Given the description of an element on the screen output the (x, y) to click on. 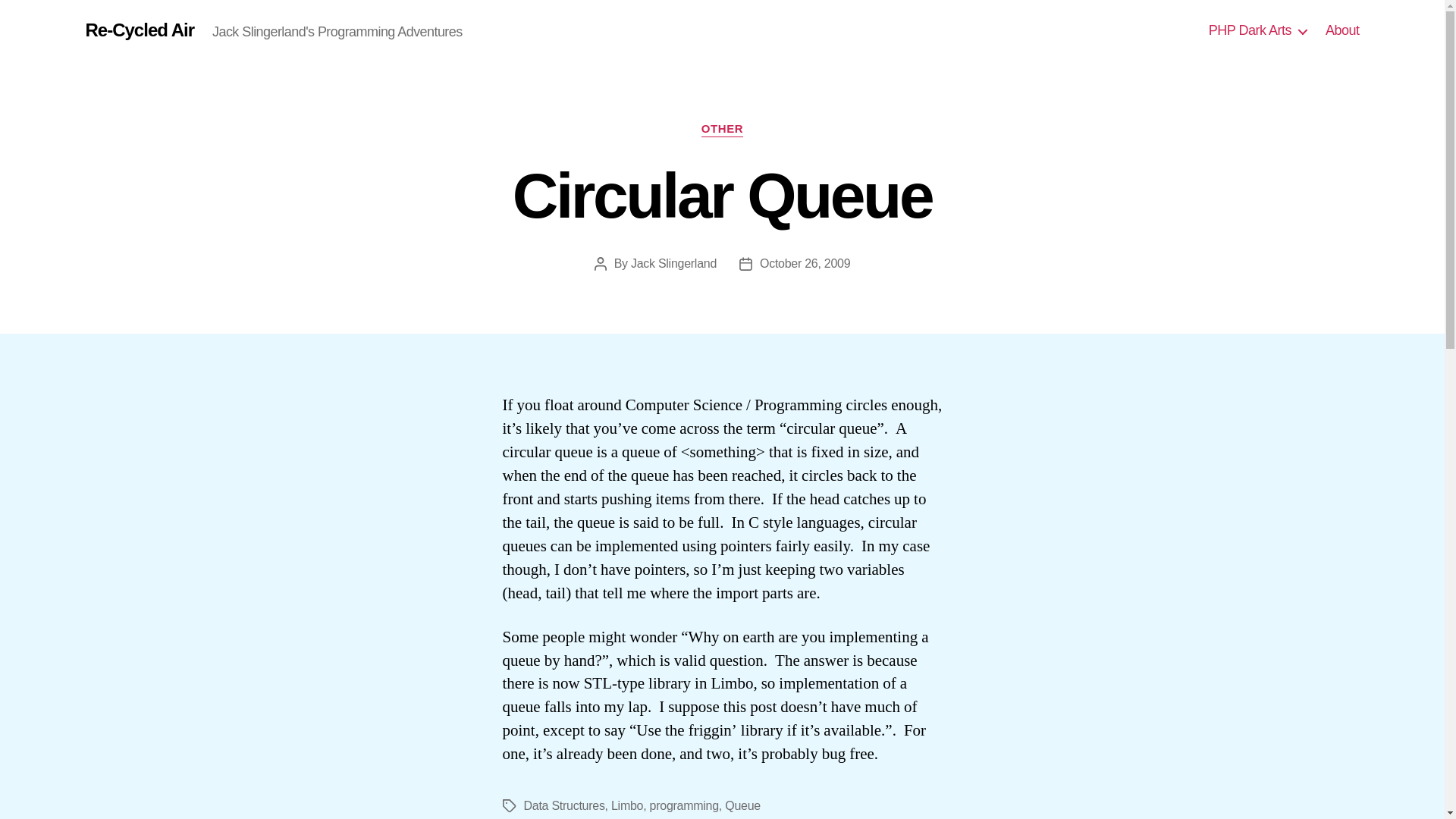
Jack Slingerland (673, 263)
programming (684, 805)
Limbo (627, 805)
About (1341, 30)
October 26, 2009 (805, 263)
Data Structures (563, 805)
PHP Dark Arts (1257, 30)
Queue (742, 805)
Re-Cycled Air (138, 30)
OTHER (721, 129)
